Given the description of an element on the screen output the (x, y) to click on. 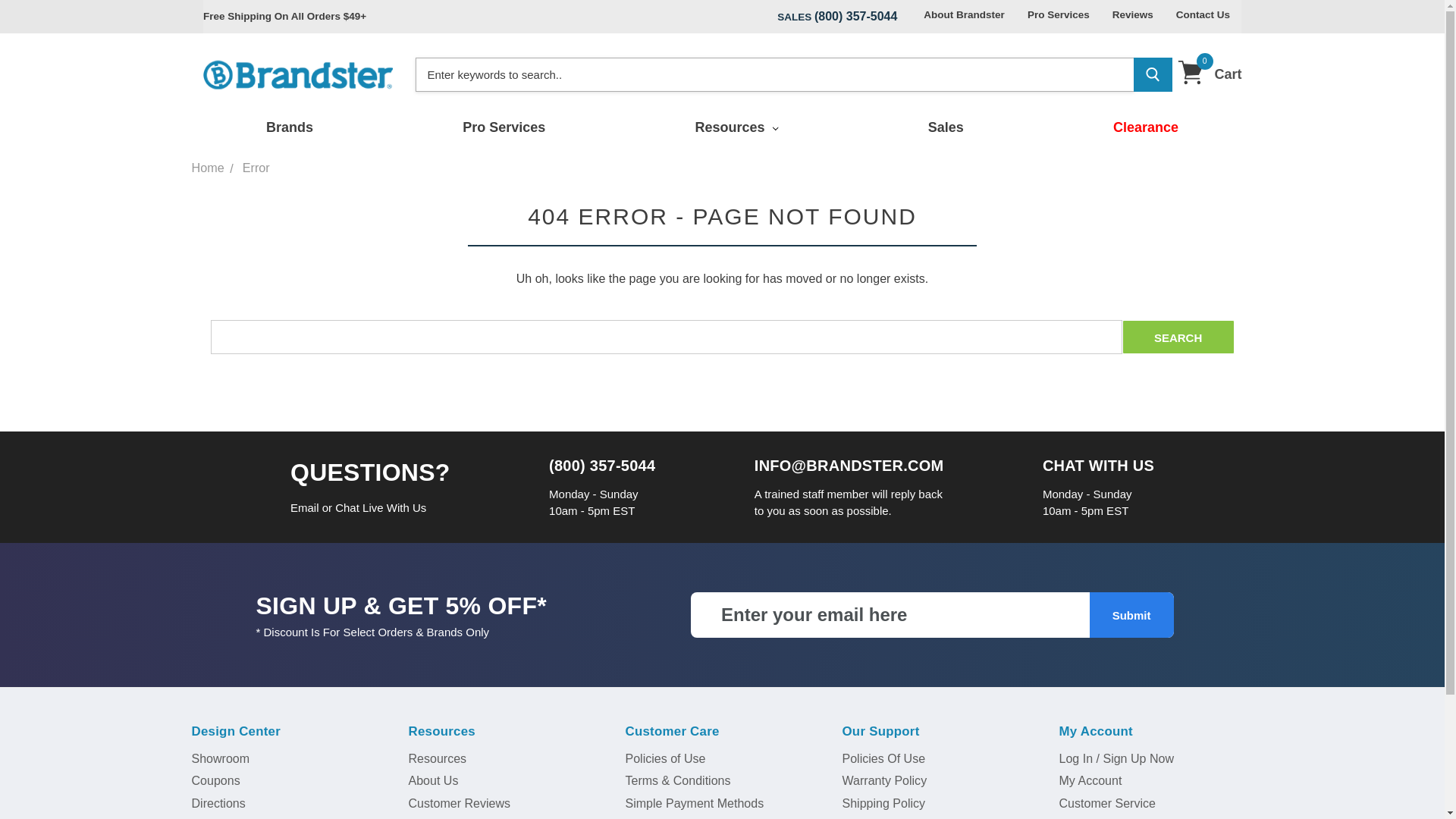
Search (1178, 336)
Pro Services (1058, 16)
Reviews (1132, 16)
Contact Us (1202, 16)
About Brandster (964, 16)
Brands (1208, 74)
Brandster.com (288, 127)
